Given the description of an element on the screen output the (x, y) to click on. 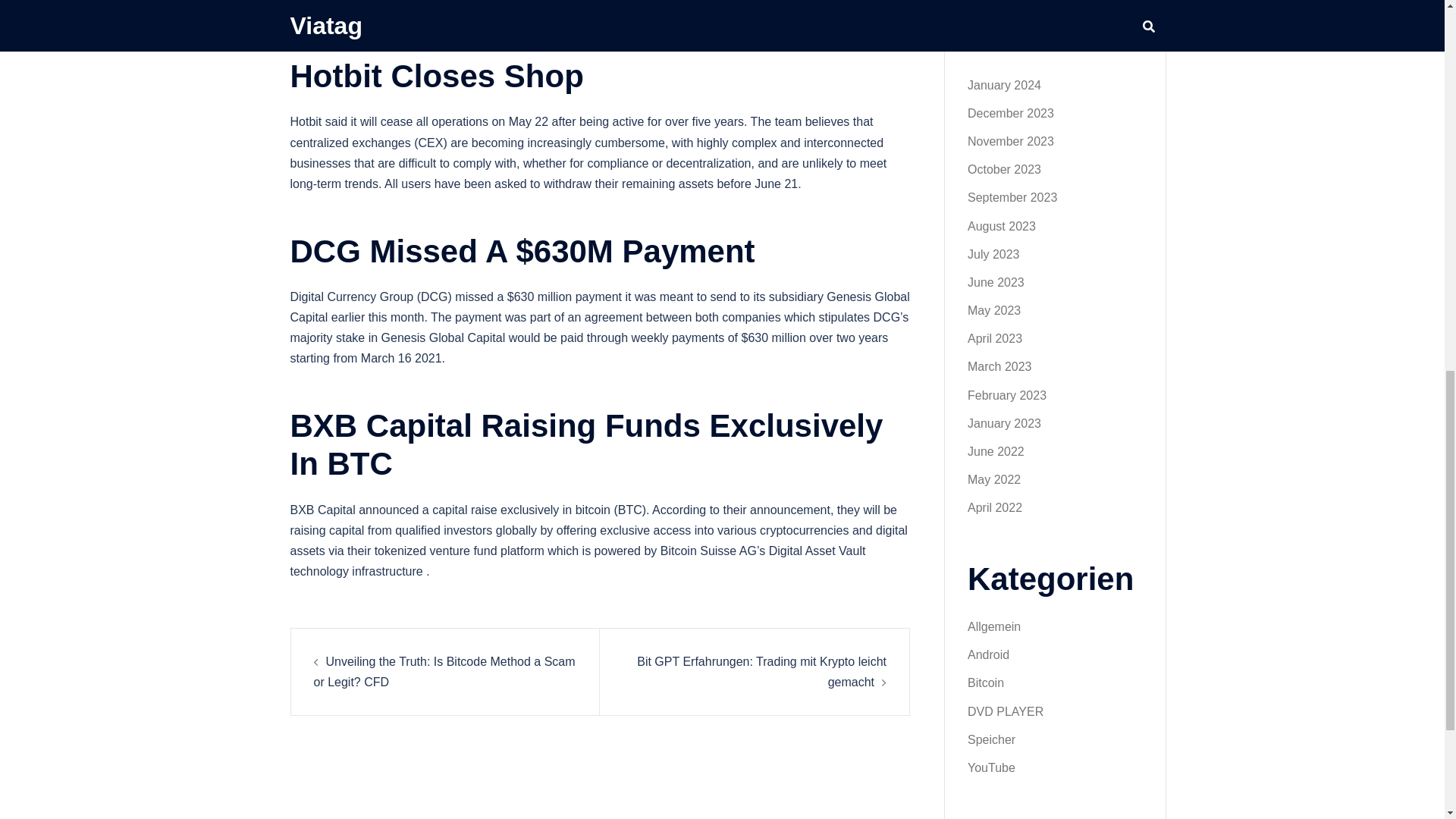
January 2023 (1004, 422)
February 2023 (1007, 395)
May 2023 (994, 309)
December 2023 (1011, 113)
Android (988, 654)
August 2023 (1001, 226)
April 2023 (995, 338)
Bitcoin (986, 682)
Allgemein (994, 626)
Unveiling the Truth: Is Bitcode Method a Scam or Legit? CFD (444, 671)
November 2023 (1011, 141)
January 2024 (1004, 84)
May 2022 (994, 479)
September 2023 (1012, 196)
Bit GPT Erfahrungen: Trading mit Krypto leicht gemacht (761, 671)
